Given the description of an element on the screen output the (x, y) to click on. 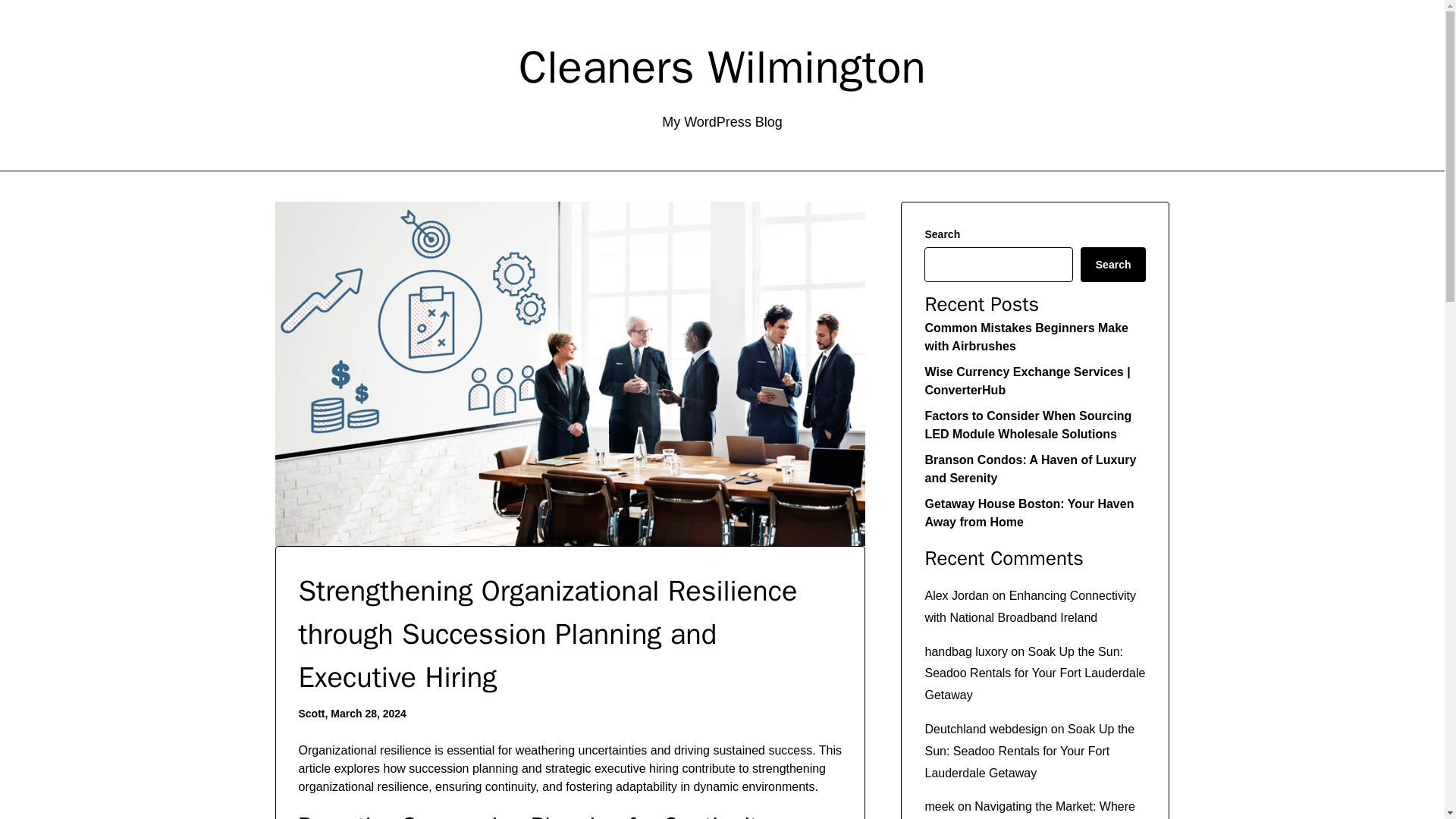
Cleaners Wilmington (722, 67)
Enhancing Connectivity with National Broadband Ireland (1029, 606)
Search (1113, 264)
Branson Condos: A Haven of Luxury and Serenity (1029, 468)
Getaway House Boston: Your Haven Away from Home (1029, 512)
Common Mistakes Beginners Make with Airbrushes (1026, 336)
handbag luxory (965, 651)
